Given the description of an element on the screen output the (x, y) to click on. 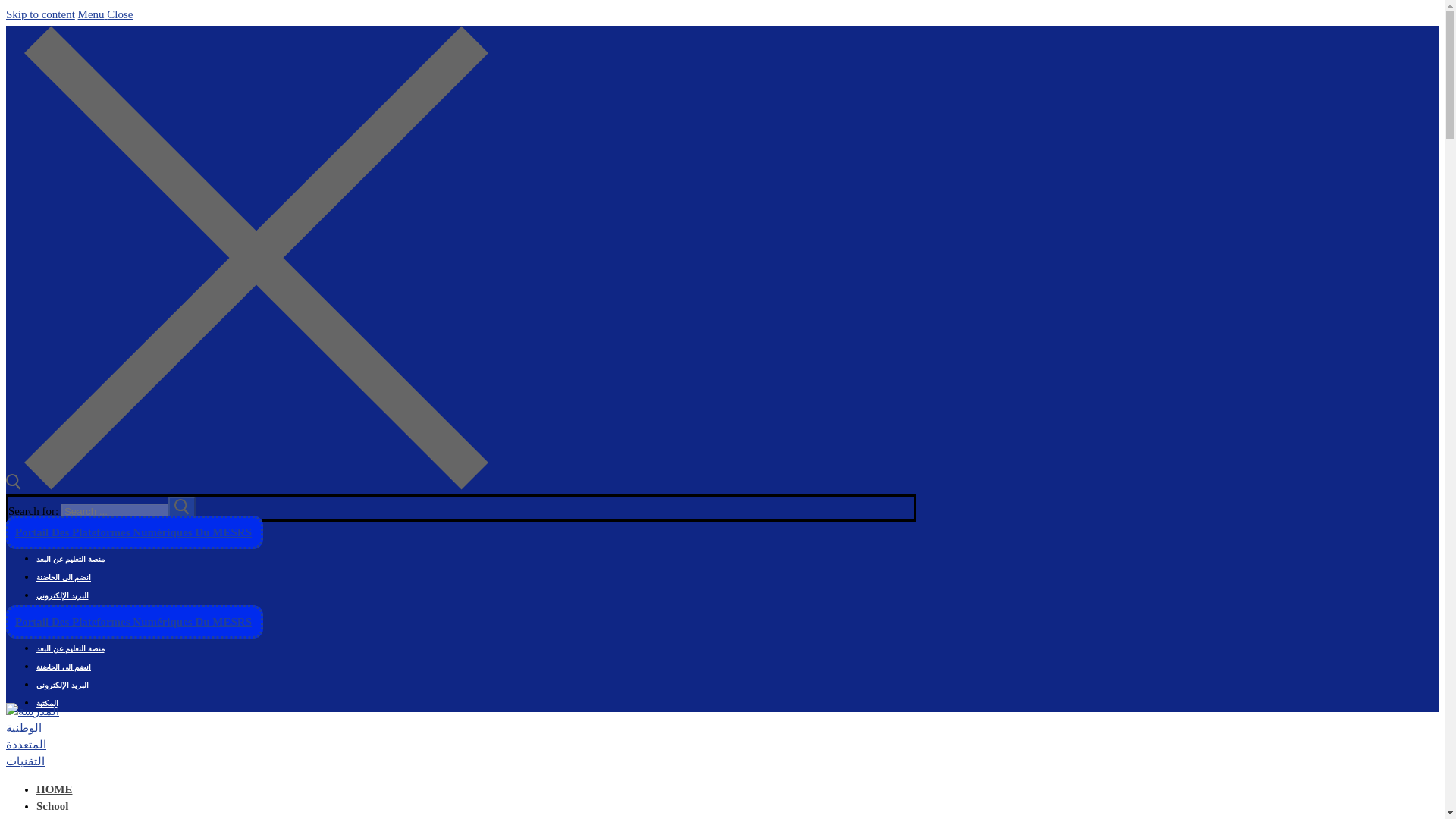
Search for: (128, 511)
Menu Close (105, 14)
School  (53, 806)
Skip to content (40, 14)
Presentation (94, 817)
HOME (54, 788)
